Given the description of an element on the screen output the (x, y) to click on. 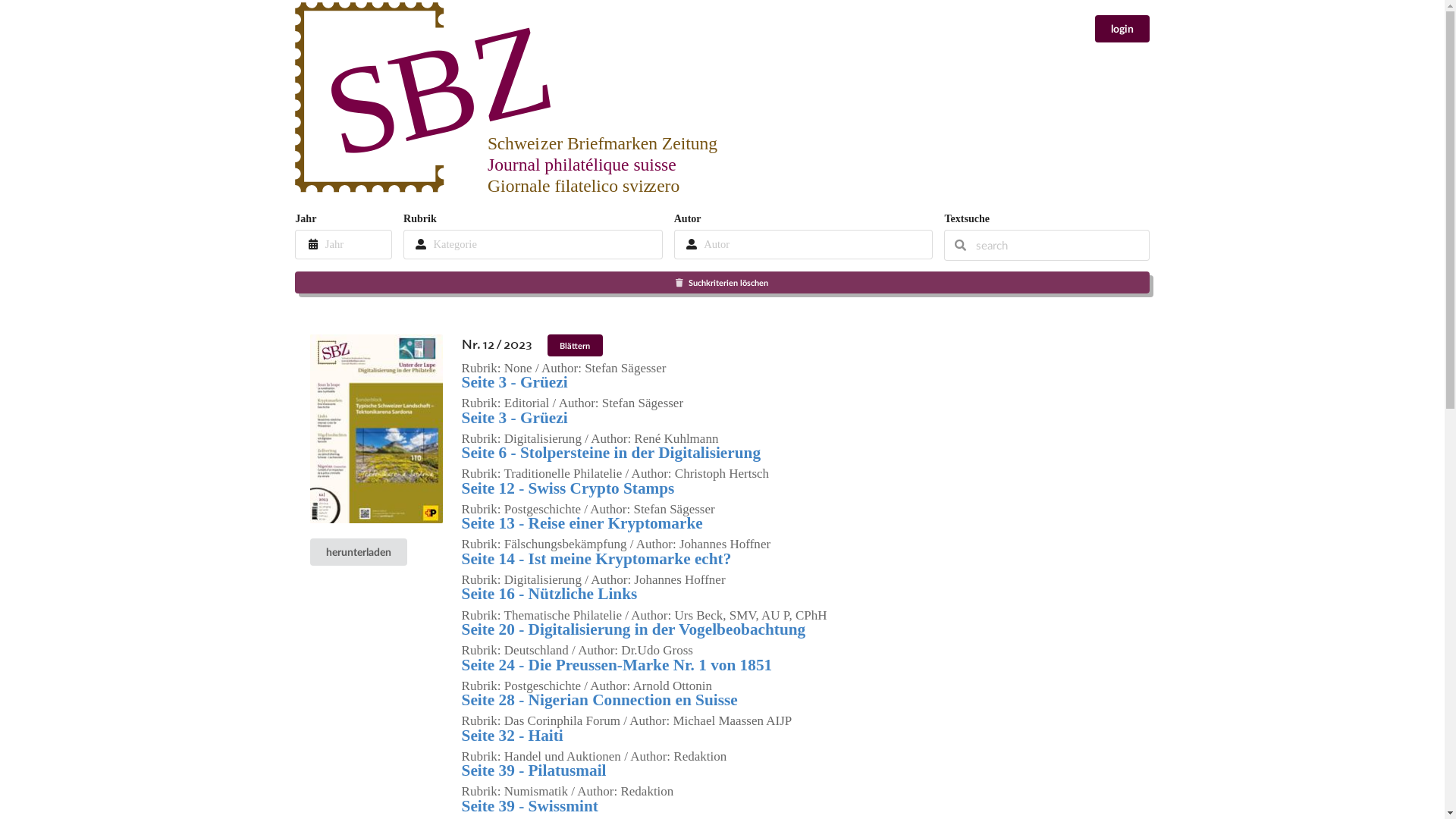
login Element type: text (1122, 28)
Seite 32 - Haiti Element type: text (512, 735)
Seite 39 - Swissmint Element type: text (529, 806)
Seite 14 - Ist meine Kryptomarke echt? Element type: text (596, 558)
Seite 6 - Stolpersteine in der Digitalisierung Element type: text (610, 452)
Seite 20 - Digitalisierung in der Vogelbeobachtung Element type: text (633, 629)
Seite 13 - Reise einer Kryptomarke Element type: text (581, 523)
Seite 12 - Swiss Crypto Stamps Element type: text (567, 488)
Seite 39 - Pilatusmail Element type: text (533, 770)
Seite 28 - Nigerian Connection en Suisse Element type: text (599, 699)
Seite 24 - Die Preussen-Marke Nr. 1 von 1851 Element type: text (616, 664)
